Given the description of an element on the screen output the (x, y) to click on. 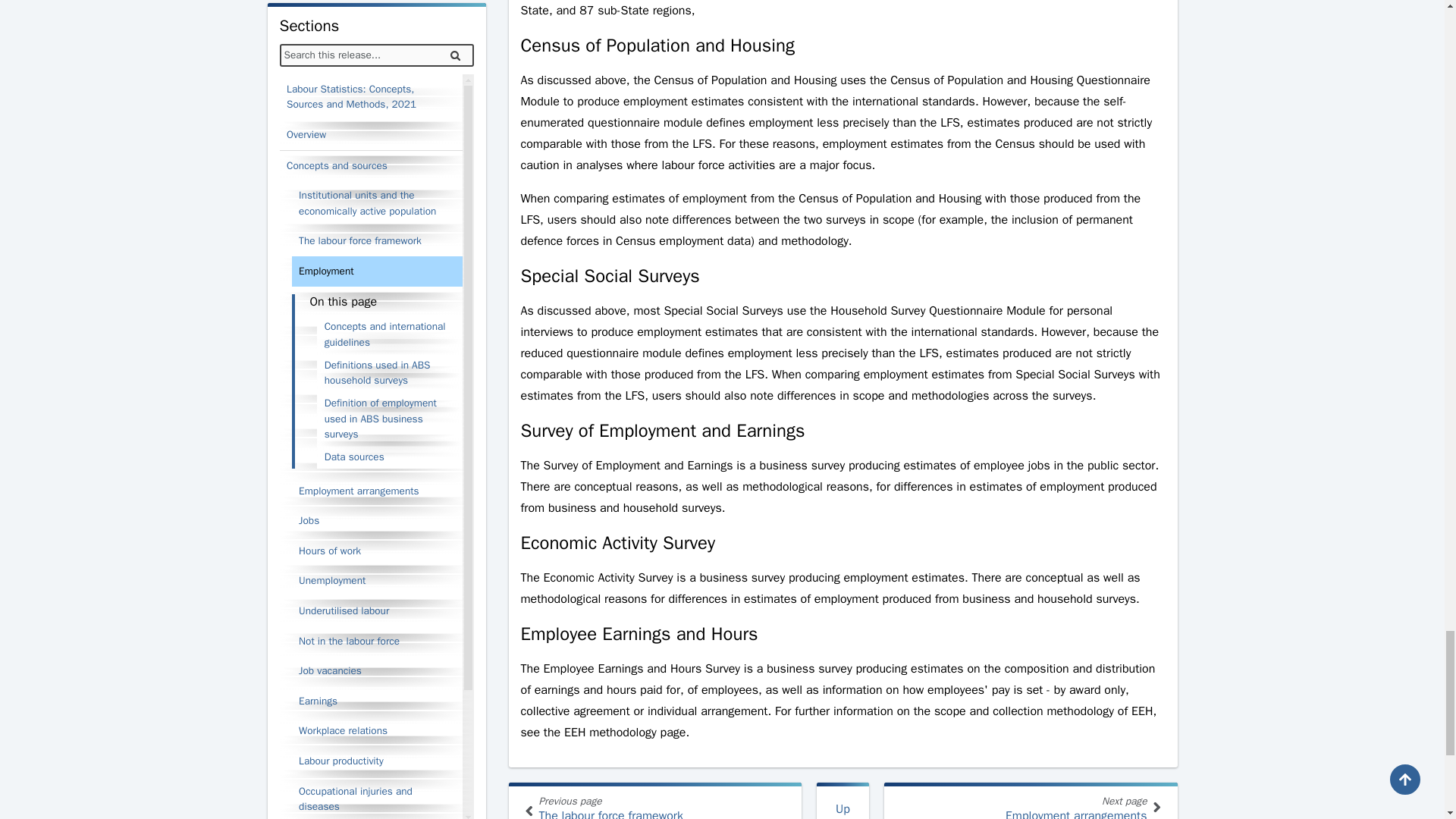
Go to parent page (842, 800)
Previous page (527, 810)
Go to previous page (655, 800)
Next page (1030, 800)
